Given the description of an element on the screen output the (x, y) to click on. 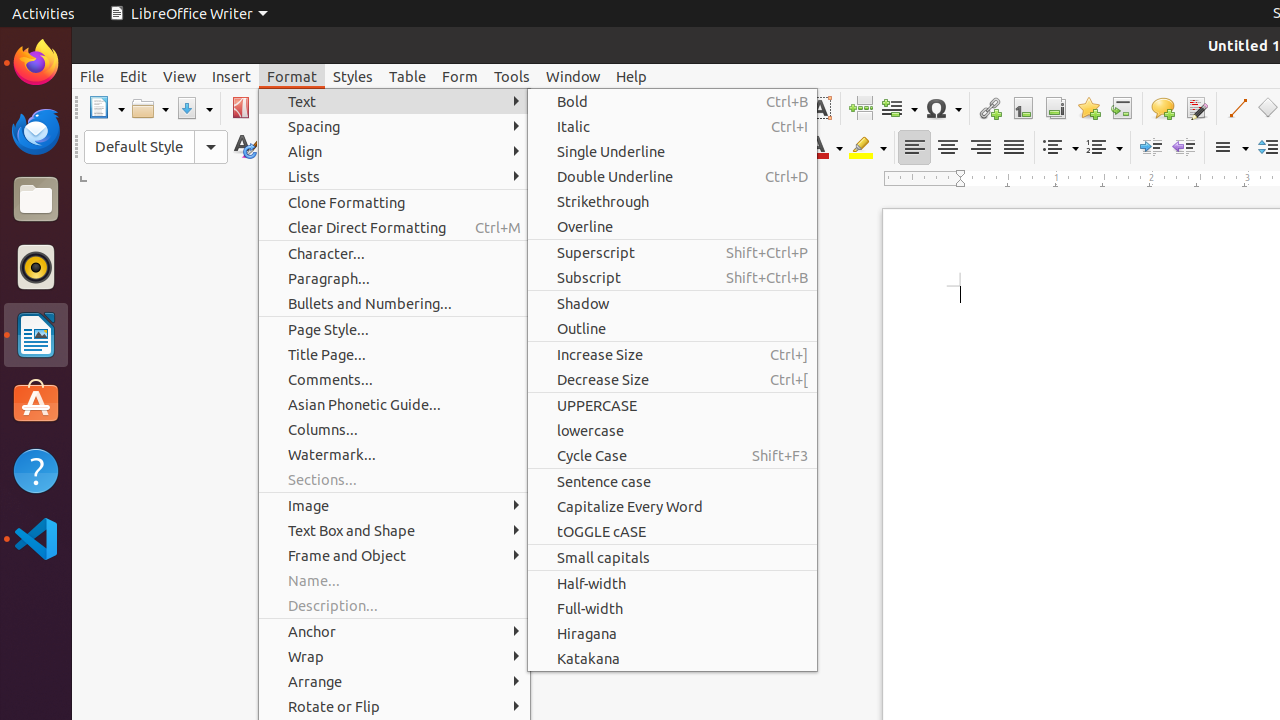
Hyperlink Element type: toggle-button (989, 108)
View Element type: menu (179, 76)
Katakana Element type: menu-item (672, 658)
Right Element type: toggle-button (980, 147)
